Given the description of an element on the screen output the (x, y) to click on. 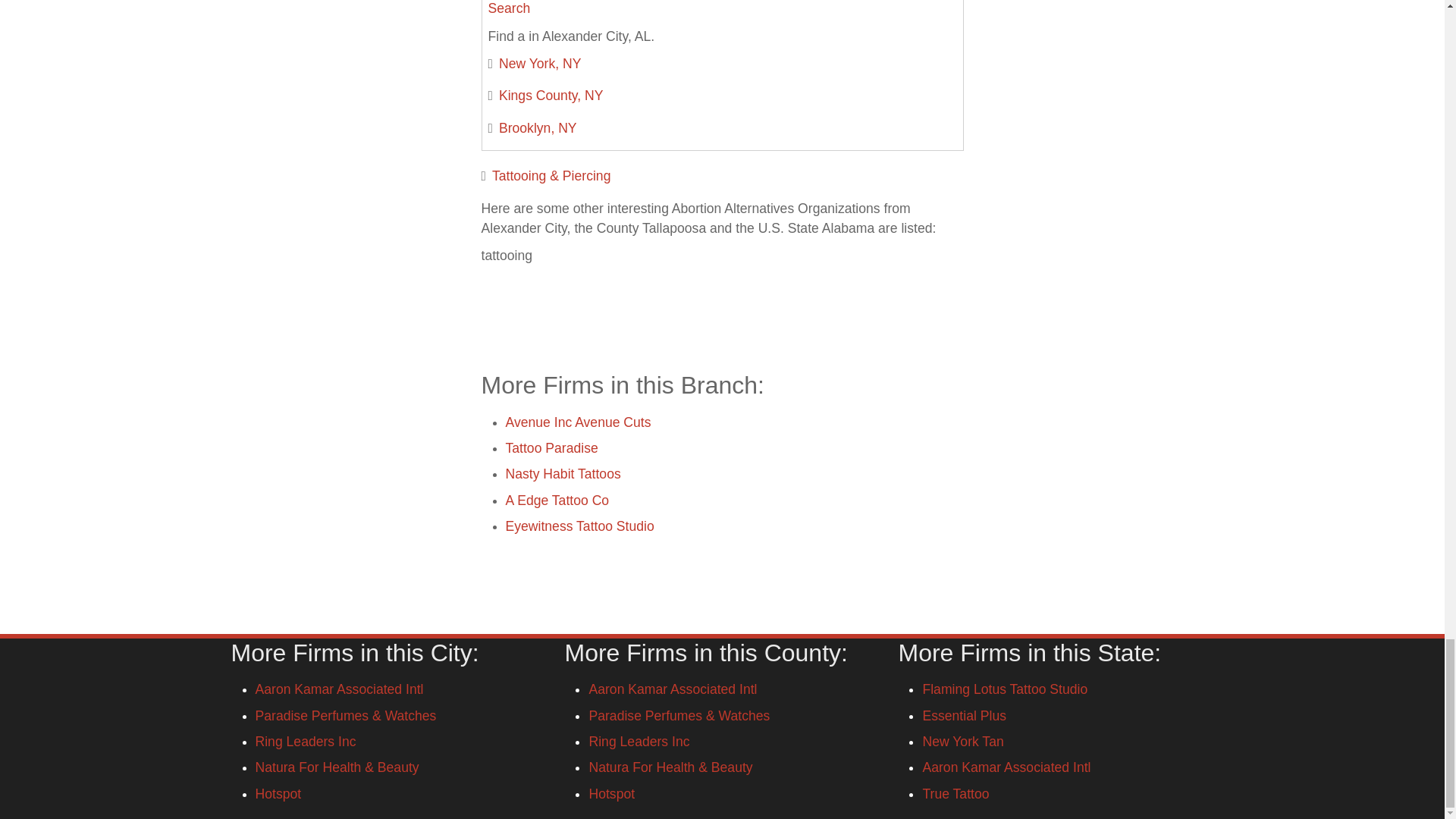
Avenue Inc Avenue Cuts (577, 421)
Kings County, NY (551, 95)
Search (509, 7)
Brooklyn, NY (537, 127)
Tattoo Paradise (550, 447)
A Edge Tattoo Co (556, 500)
Eyewitness Tattoo Studio (579, 525)
Nasty Habit Tattoos (562, 473)
New York, NY (539, 63)
